Given the description of an element on the screen output the (x, y) to click on. 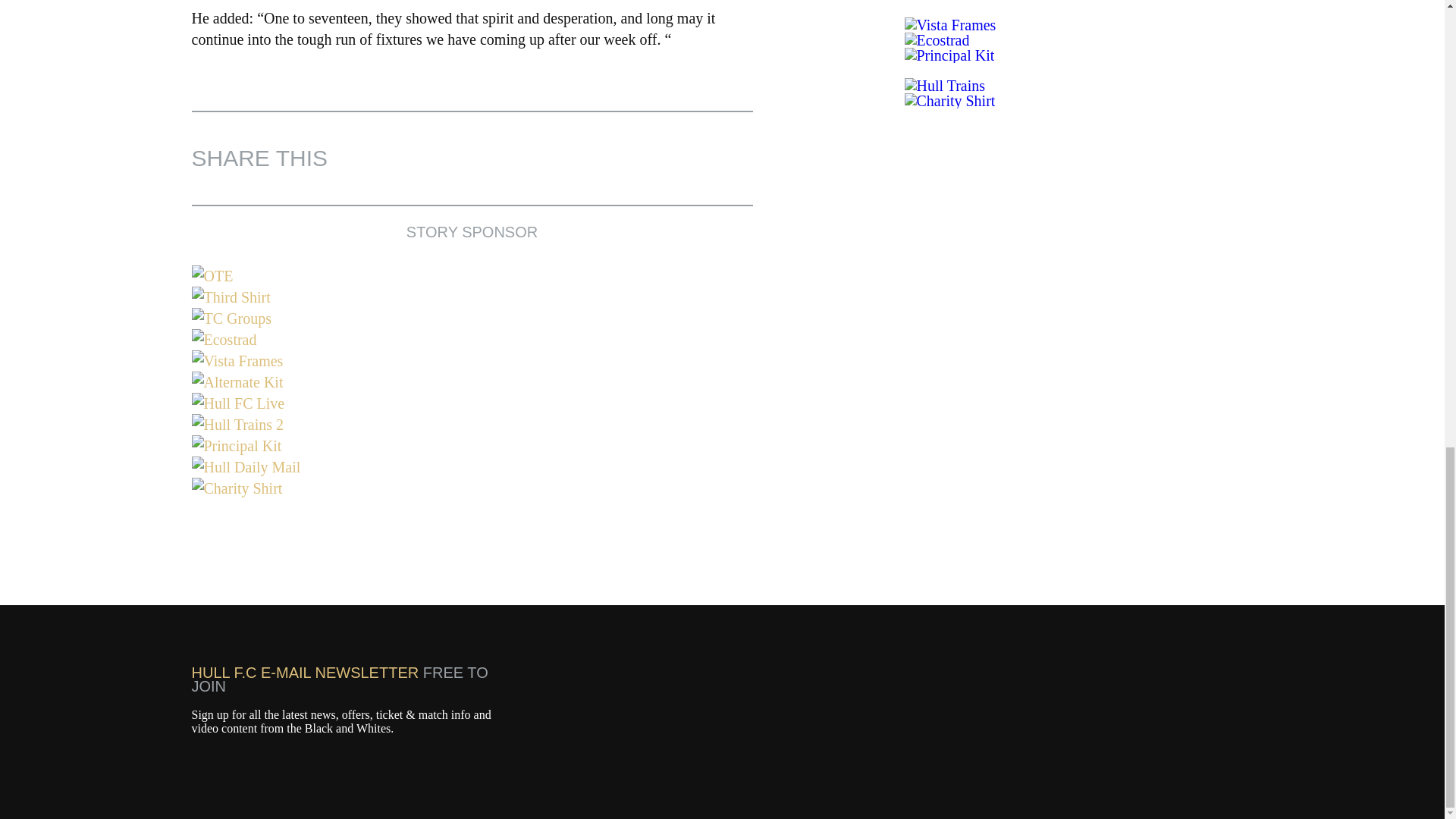
Hull FC Live (471, 403)
Hull Daily Mail (471, 466)
Vista Frames (471, 360)
Ecostrad (471, 339)
TC Groups (471, 318)
Alternate Kit (471, 382)
Third Shirt (471, 296)
Principal Kit (471, 445)
OTE (471, 275)
Hull Trains 2 (471, 424)
Charity Shirt (471, 487)
